Given the description of an element on the screen output the (x, y) to click on. 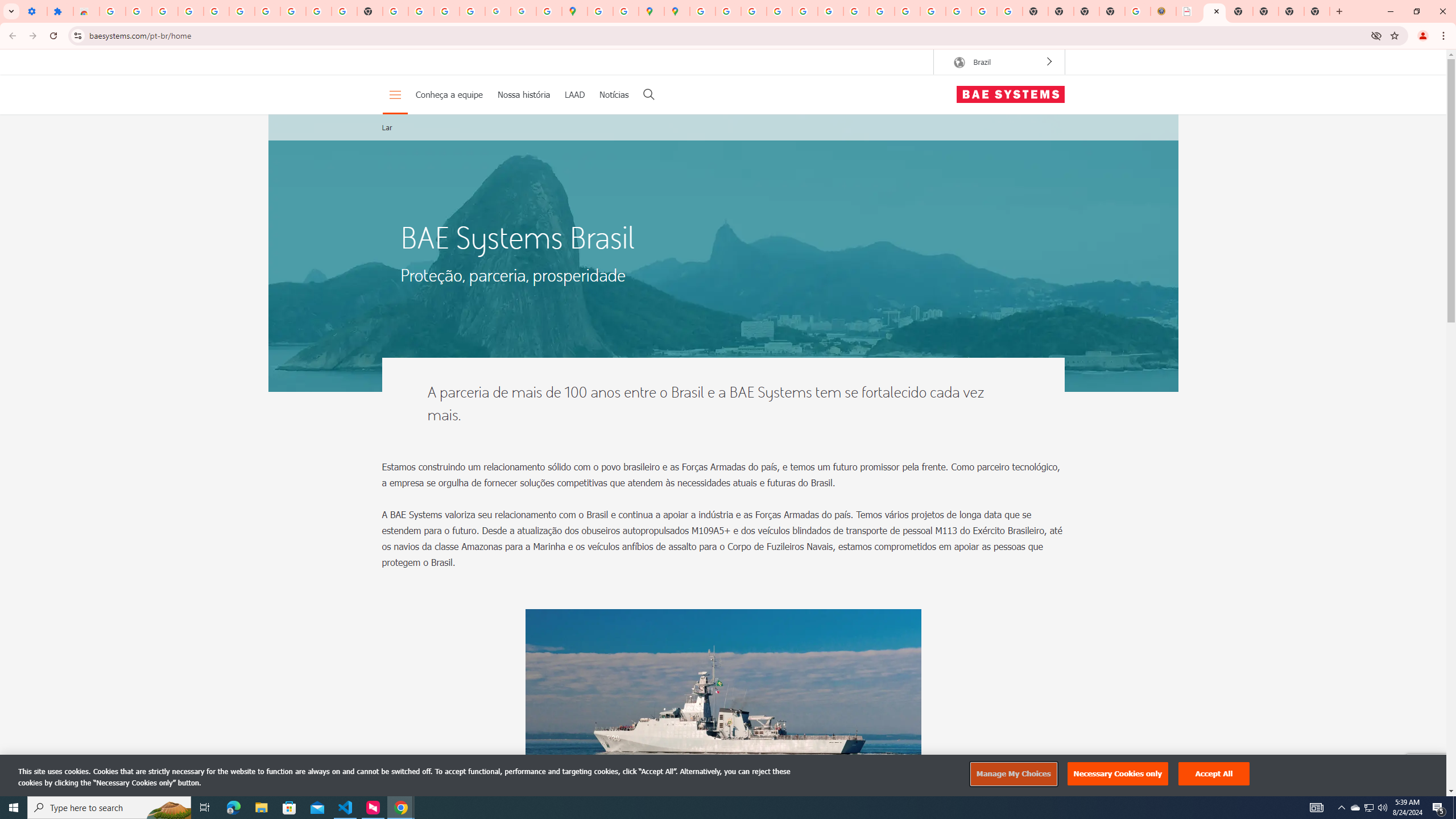
YouTube (318, 11)
Google Images (1009, 11)
Sign in - Google Accounts (242, 11)
Safety in Our Products - Google Safety Center (625, 11)
Sign in - Google Accounts (112, 11)
